Given the description of an element on the screen output the (x, y) to click on. 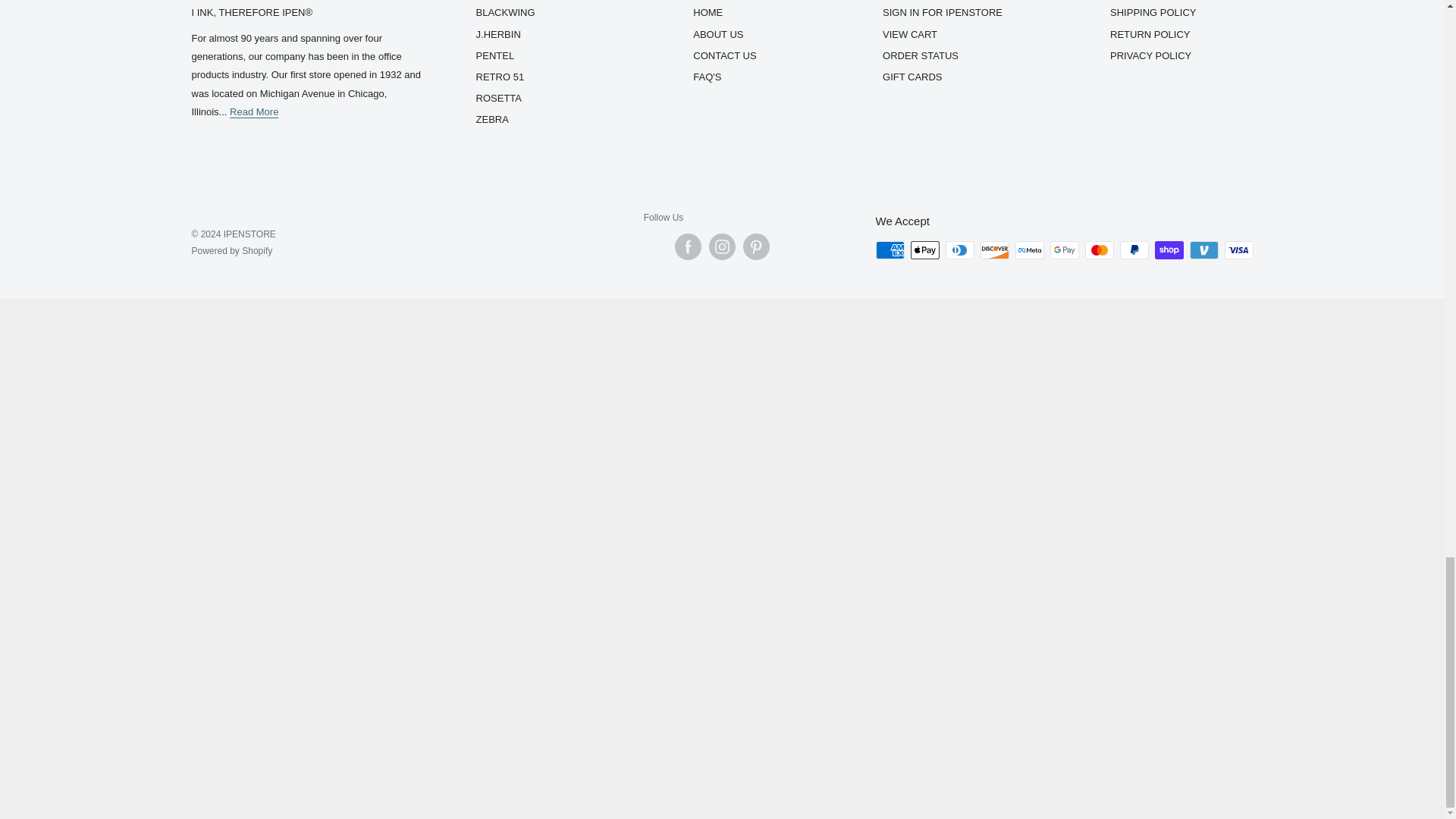
About Us (254, 111)
